Given the description of an element on the screen output the (x, y) to click on. 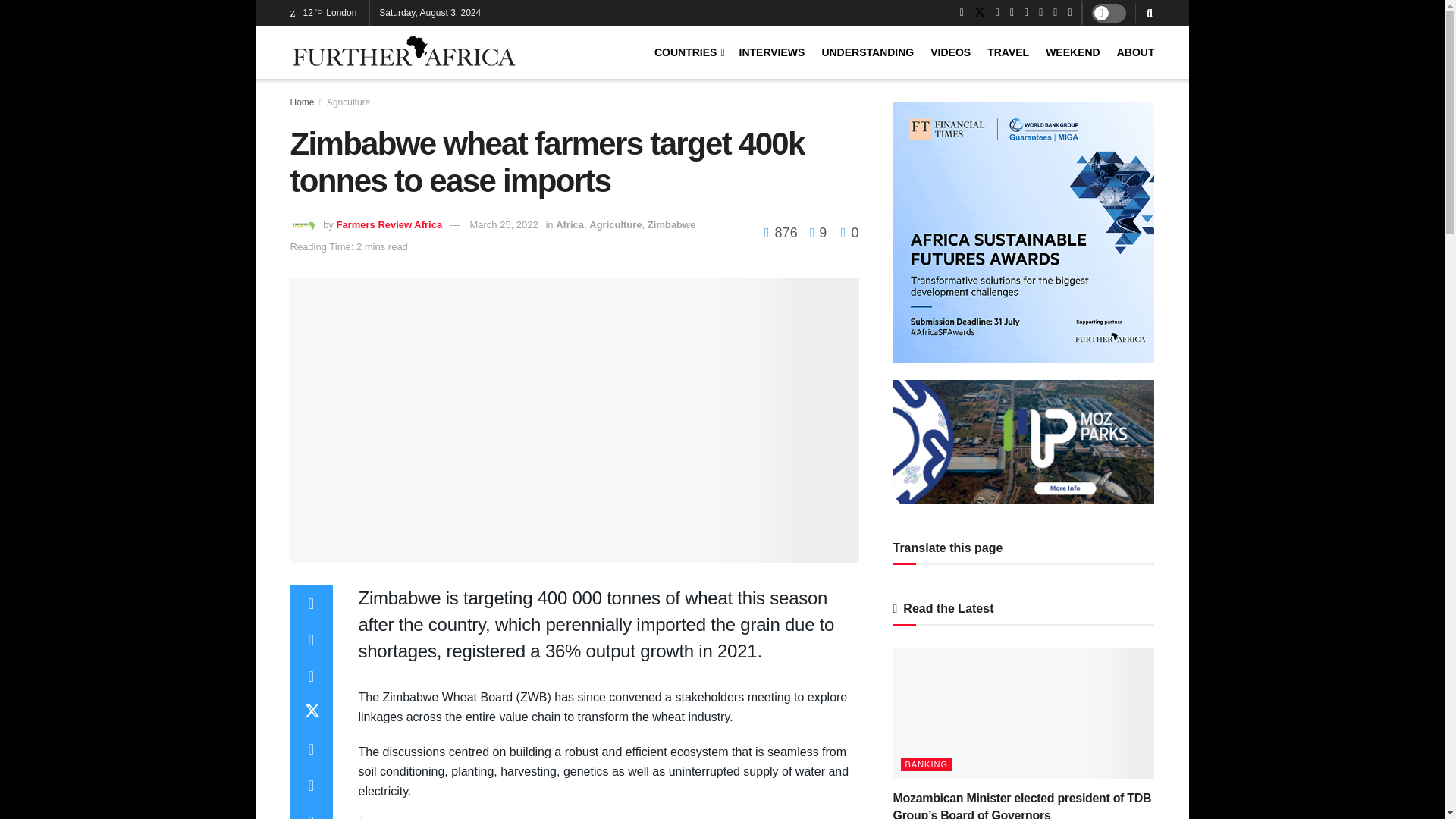
INTERVIEWS (772, 51)
WEEKEND (1072, 51)
COUNTRIES (687, 51)
UNDERSTANDING (867, 51)
